Given the description of an element on the screen output the (x, y) to click on. 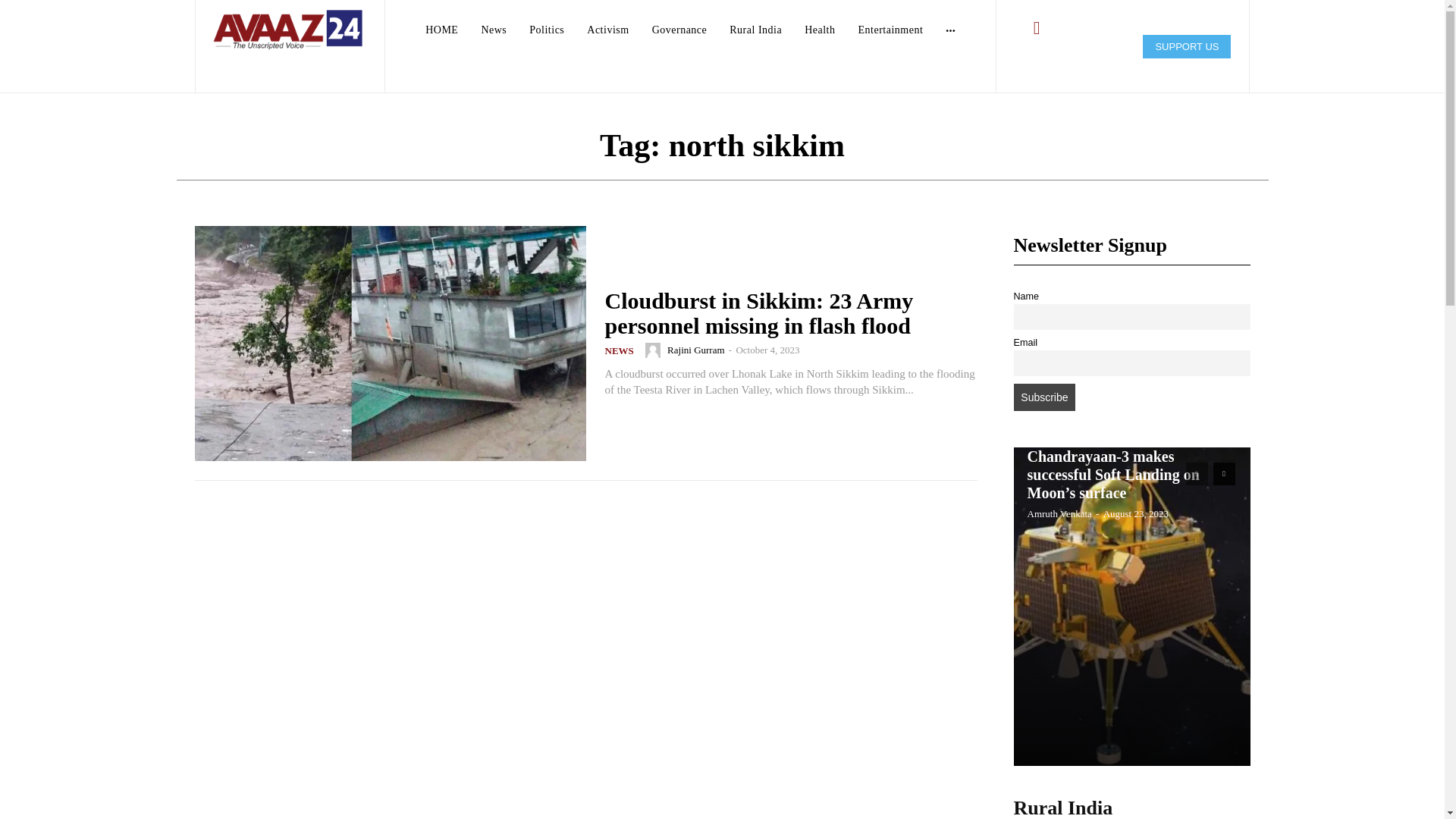
Entertainment (890, 30)
Activism (607, 30)
Rural India (755, 30)
Governance (679, 30)
Subscribe (1044, 397)
SUPPORT US (1186, 46)
